Given the description of an element on the screen output the (x, y) to click on. 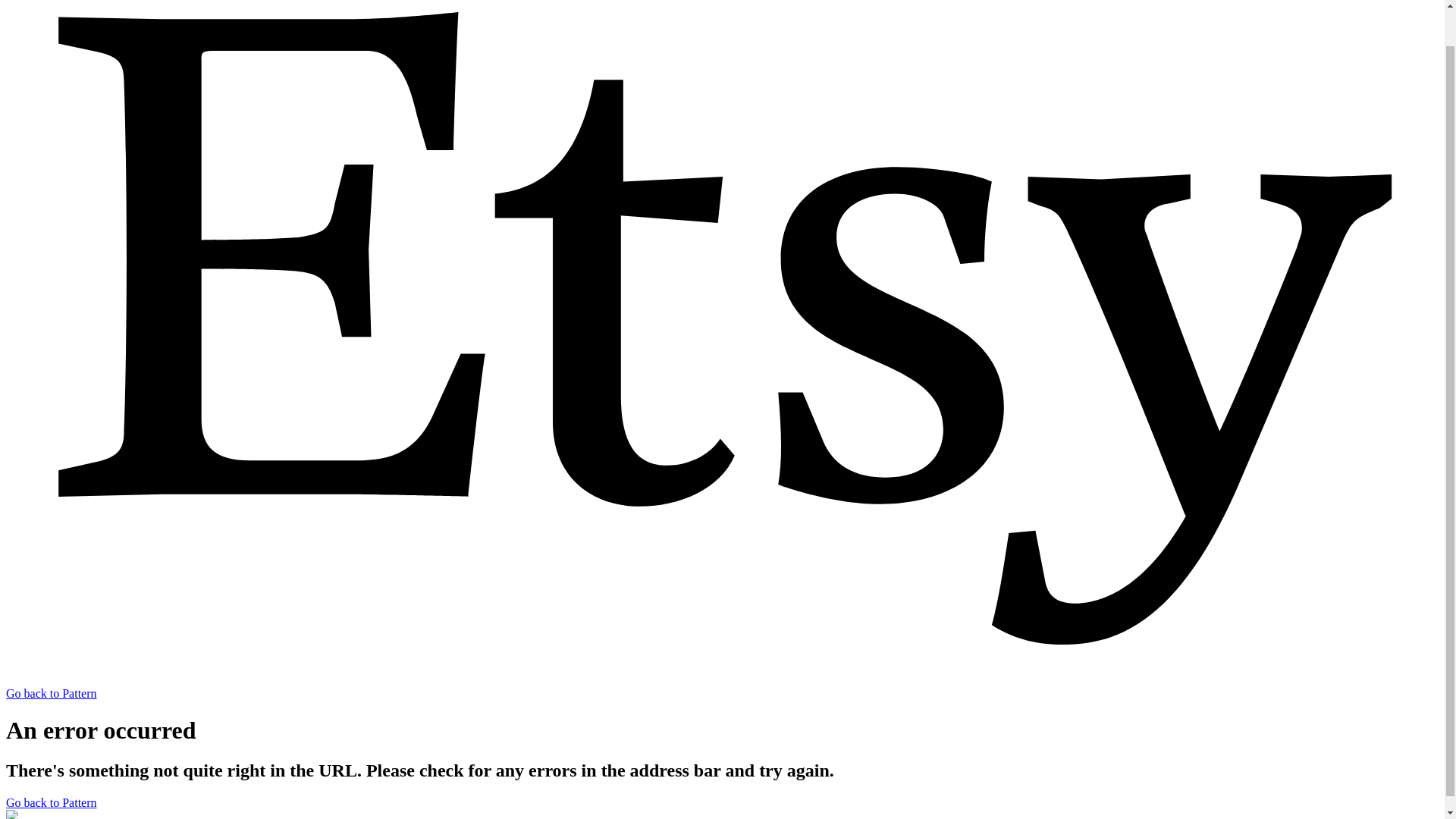
Go back to Pattern (51, 802)
